Given the description of an element on the screen output the (x, y) to click on. 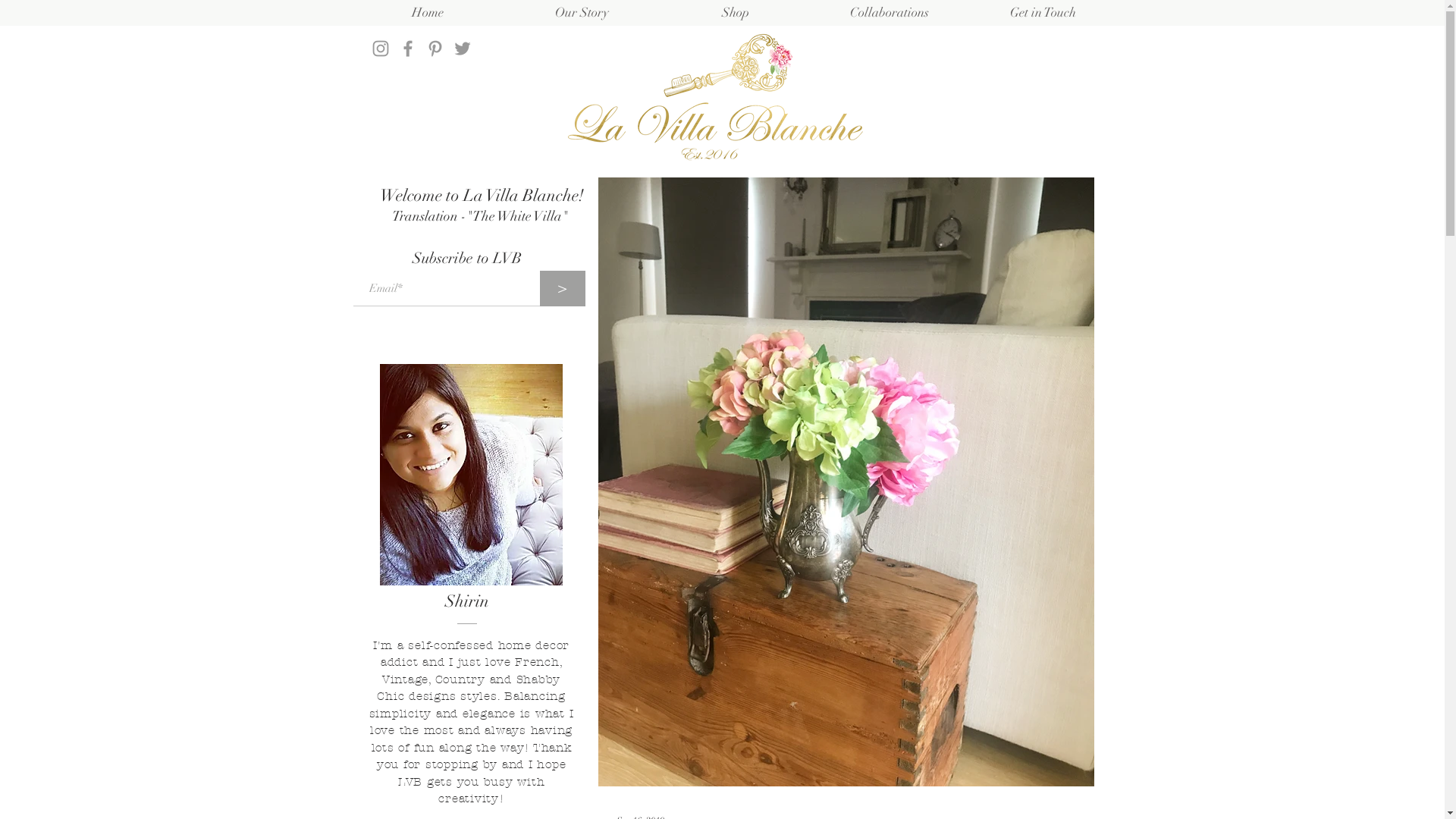
Shop Element type: text (735, 12)
Home Element type: text (427, 12)
Collaborations Element type: text (889, 12)
Site Search Element type: hover (1042, 48)
> Element type: text (562, 288)
Our Story Element type: text (581, 12)
14589889_1069365296511183_3165449923810481107_o.jpg Element type: hover (470, 474)
Get in Touch Element type: text (1042, 12)
